Given the description of an element on the screen output the (x, y) to click on. 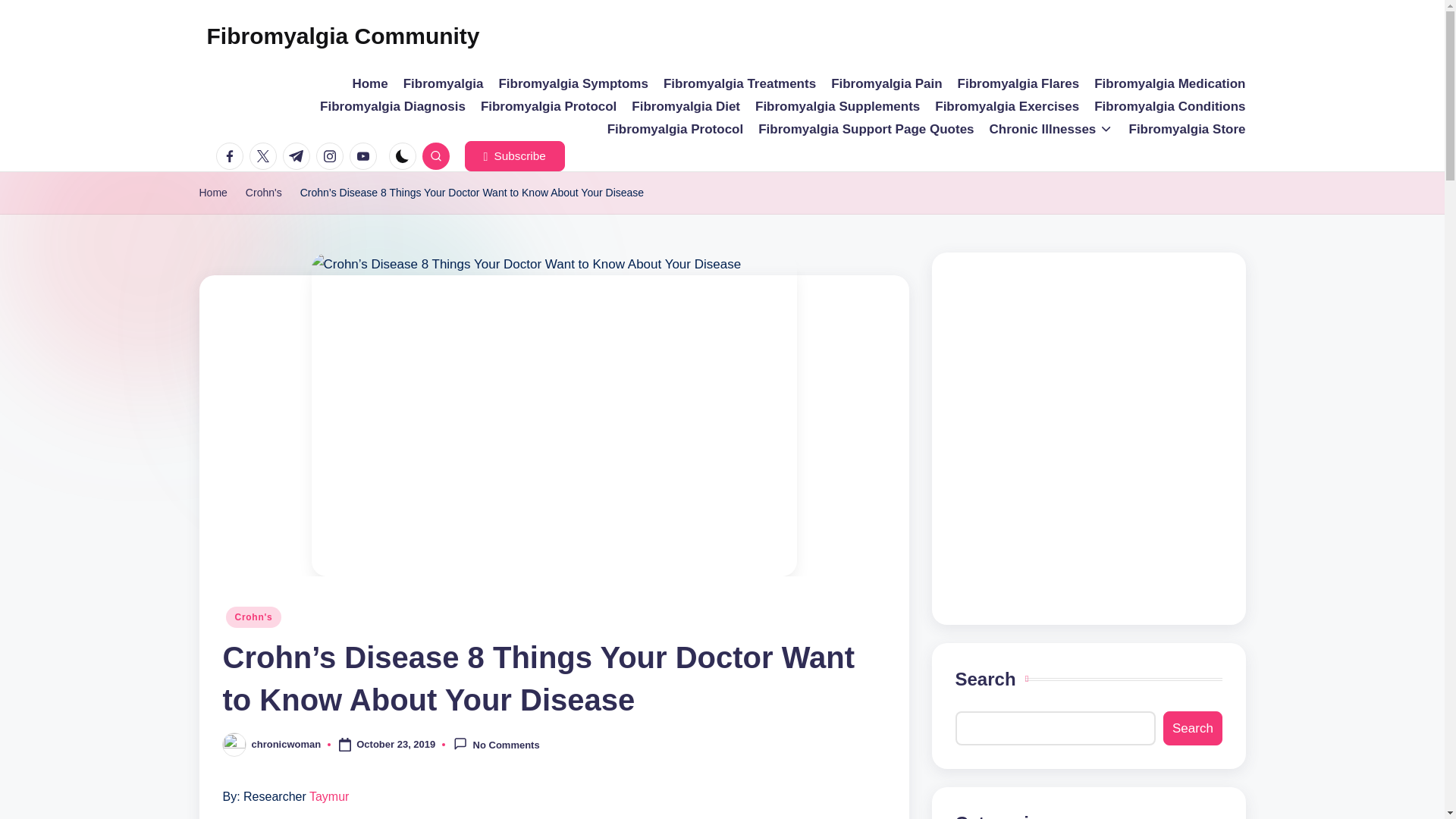
instagram.com (332, 155)
Fibromyalgia Symptoms (572, 83)
Fibromyalgia Store (1187, 128)
Fibromyalgia Pain (886, 83)
Fibromyalgia Protocol (674, 128)
facebook.com (231, 155)
youtube.com (365, 155)
Fibromyalgia Conditions (1169, 106)
Fibromyalgia Supplements (837, 106)
Fibromyalgia Exercises (1006, 106)
Toopi Productions Merch store powered by Spring (1089, 435)
twitter.com (265, 155)
Fibromyalgia Treatments (739, 83)
Crohn's (264, 192)
Fibromyalgia Diagnosis (392, 106)
